Given the description of an element on the screen output the (x, y) to click on. 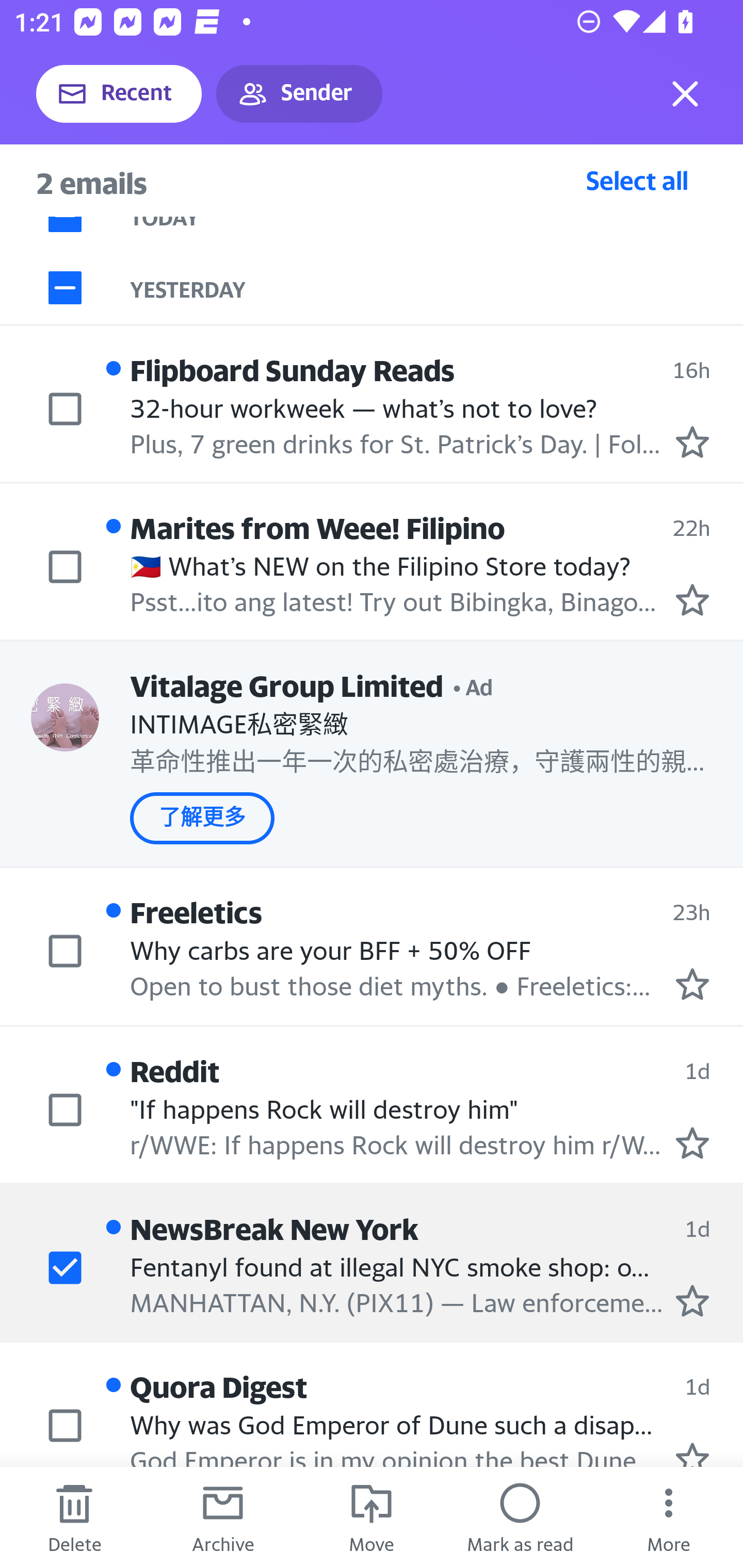
Sender (299, 93)
Exit selection mode (684, 93)
Select all (637, 180)
YESTERDAY (436, 287)
Mark as starred. (692, 441)
Mark as starred. (692, 599)
Mark as starred. (692, 983)
Mark as starred. (692, 1142)
Mark as starred. (692, 1300)
Mark as starred. (692, 1453)
Delete (74, 1517)
Archive (222, 1517)
Move (371, 1517)
Mark as read (519, 1517)
More (668, 1517)
